Given the description of an element on the screen output the (x, y) to click on. 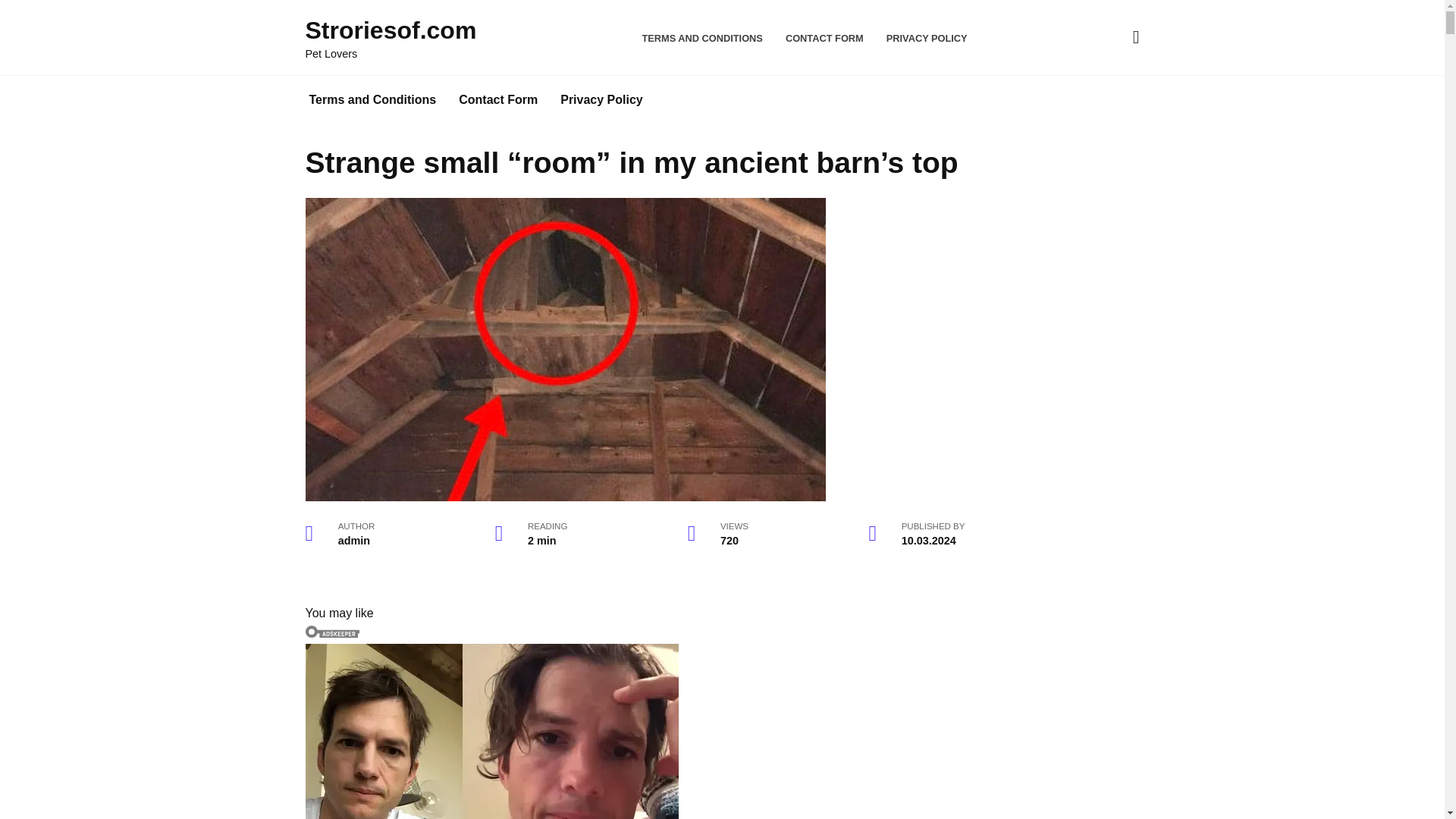
TERMS AND CONDITIONS (702, 38)
Terms and Conditions (371, 100)
Stroriesof.com (390, 30)
PRIVACY POLICY (927, 38)
Contact Form (497, 100)
CONTACT FORM (824, 38)
Privacy Policy (600, 100)
